Given the description of an element on the screen output the (x, y) to click on. 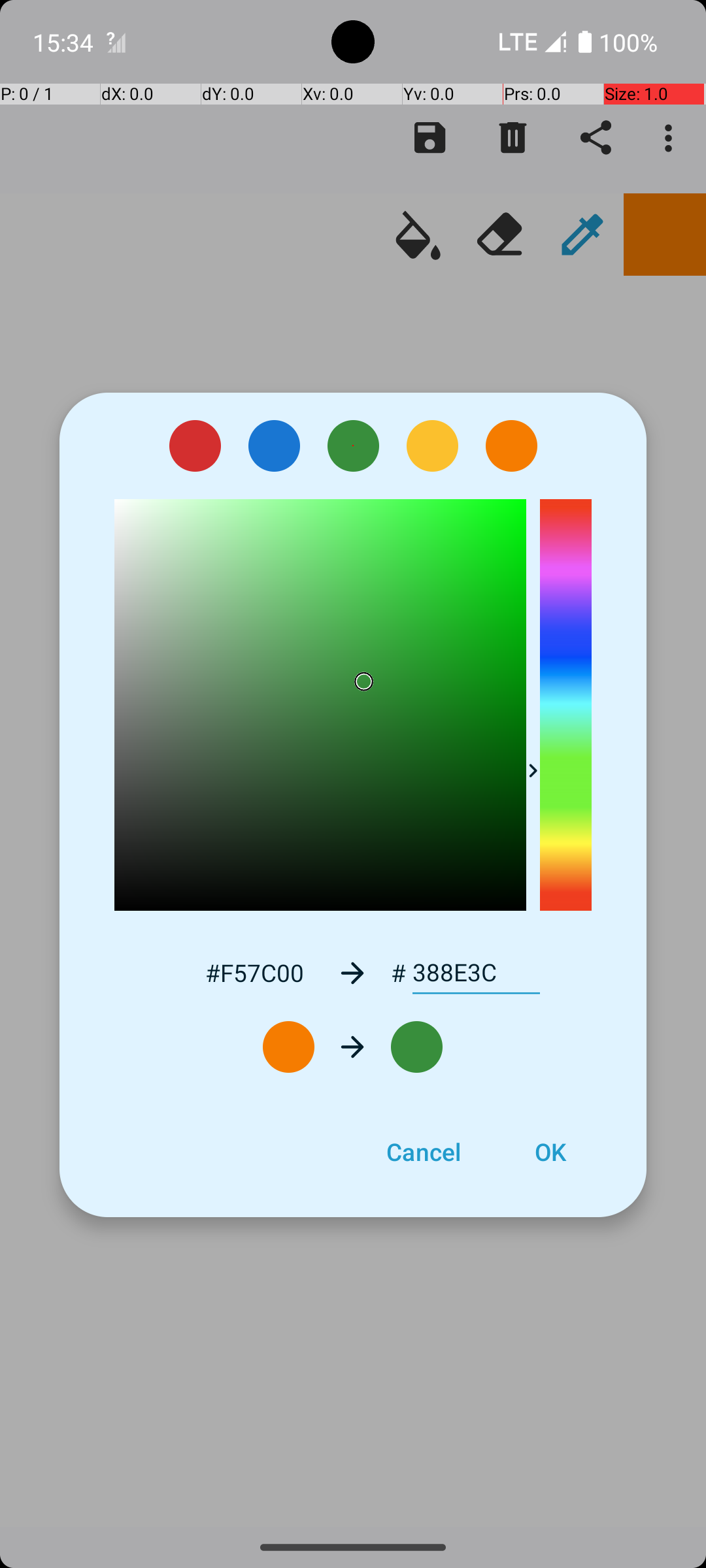
#F57C00 Element type: android.widget.TextView (254, 972)
388E3C Element type: android.widget.EditText (475, 972)
